Given the description of an element on the screen output the (x, y) to click on. 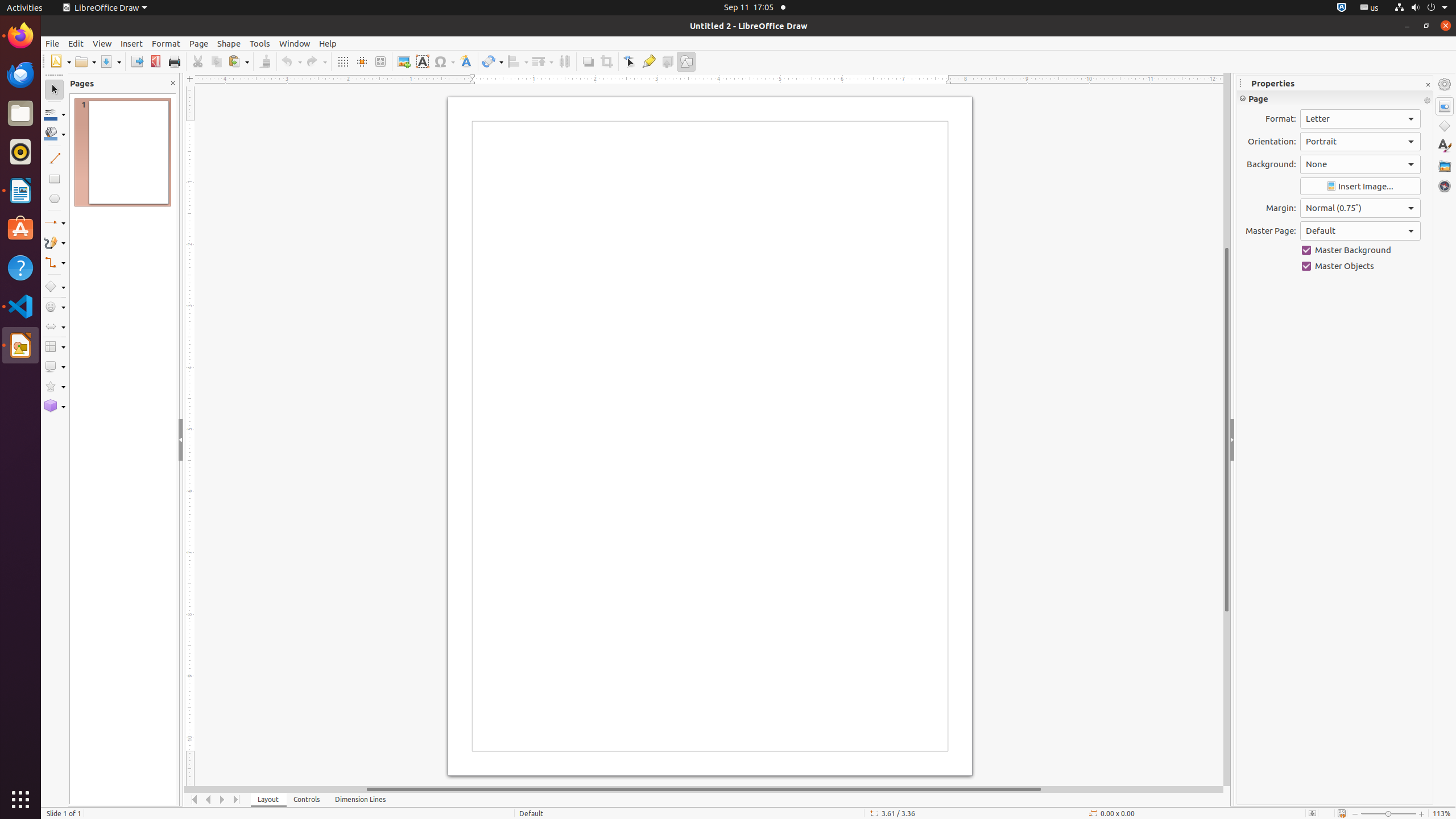
Select Element type: push-button (53, 89)
Margin: Element type: combo-box (1360, 207)
PDF Element type: push-button (155, 61)
More Options Element type: push-button (1426, 100)
